Given the description of an element on the screen output the (x, y) to click on. 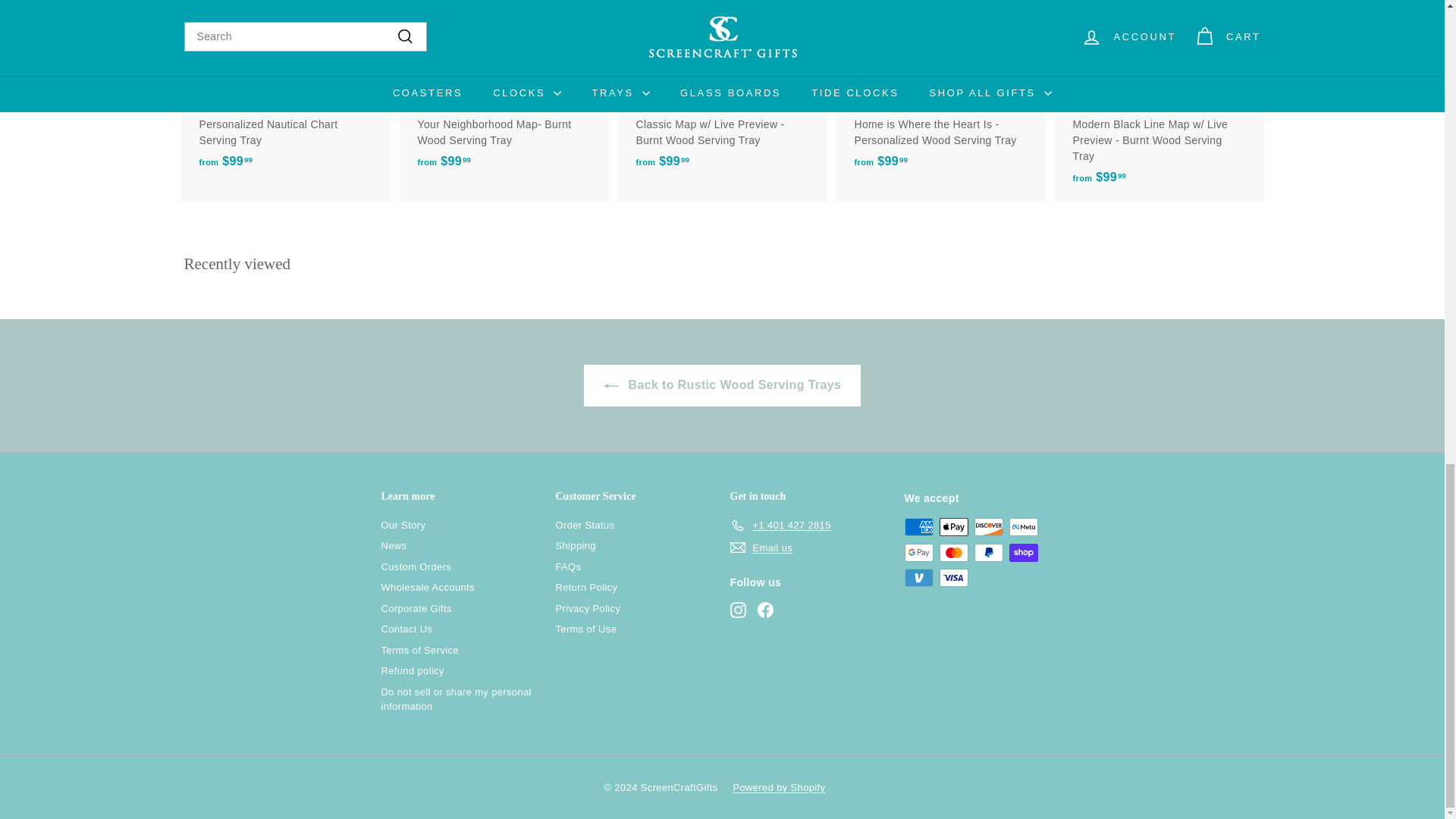
ScreenCraftGifts on Instagram (737, 609)
American Express (918, 526)
Apple Pay (953, 526)
instagram (737, 609)
ScreenCraftGifts on Facebook (765, 609)
icon-left-arrow (611, 385)
